Given the description of an element on the screen output the (x, y) to click on. 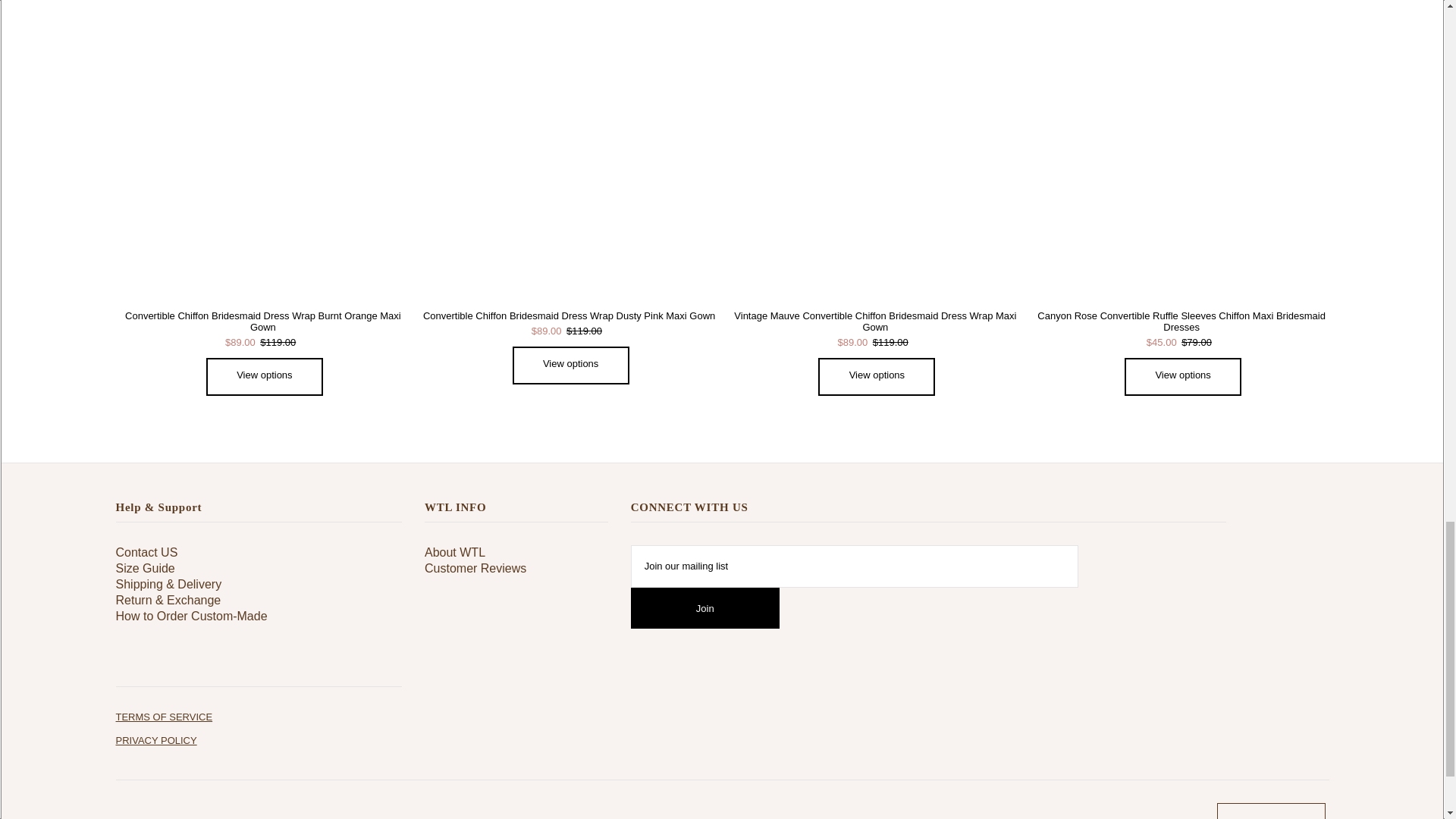
Join (704, 608)
